Given the description of an element on the screen output the (x, y) to click on. 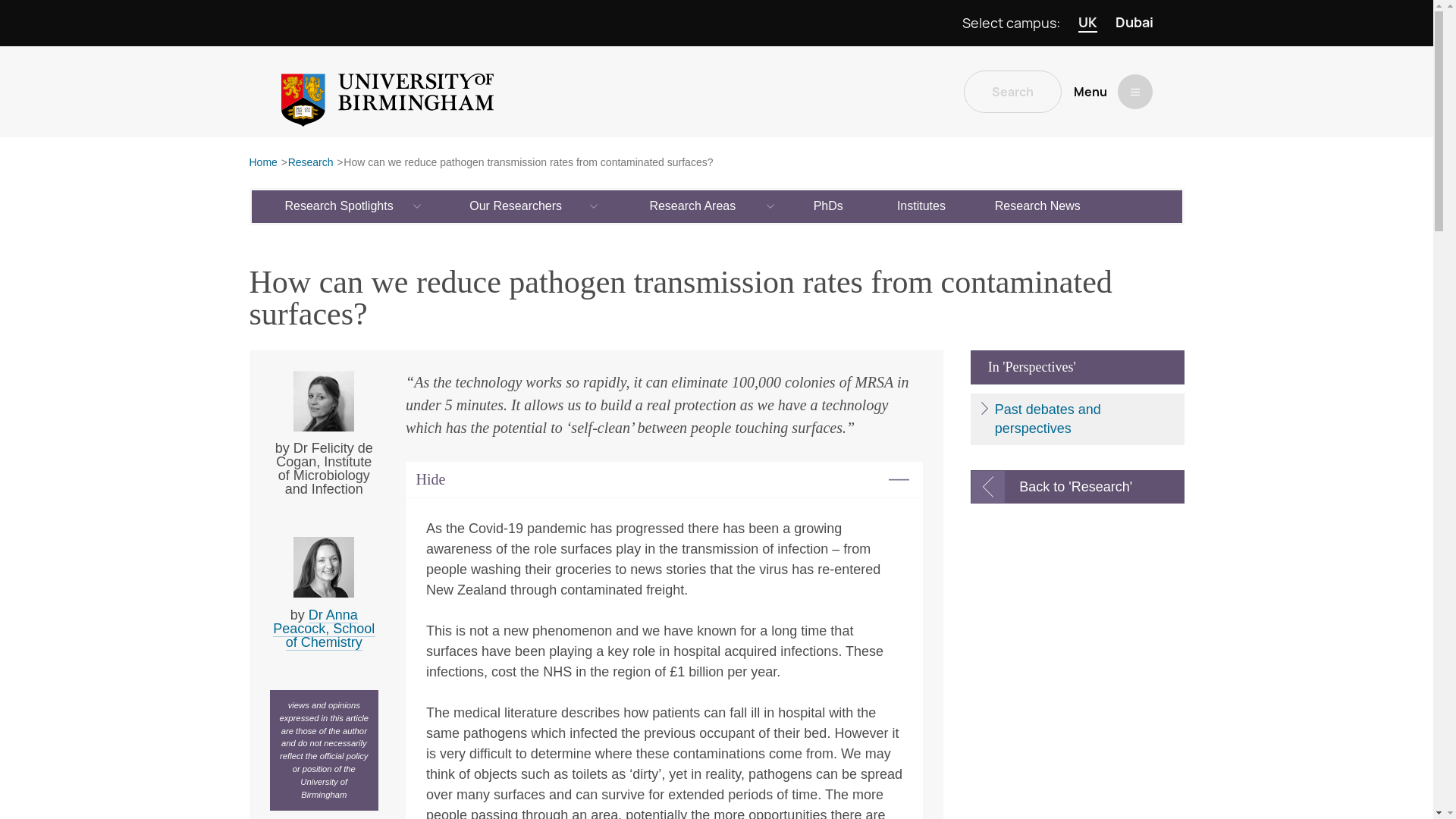
Research Areas (693, 205)
Research Spotlights (339, 205)
Home (262, 163)
Dubai (1134, 23)
Search (1012, 91)
Our Researchers (516, 205)
UK (1087, 23)
Research (310, 163)
